Given the description of an element on the screen output the (x, y) to click on. 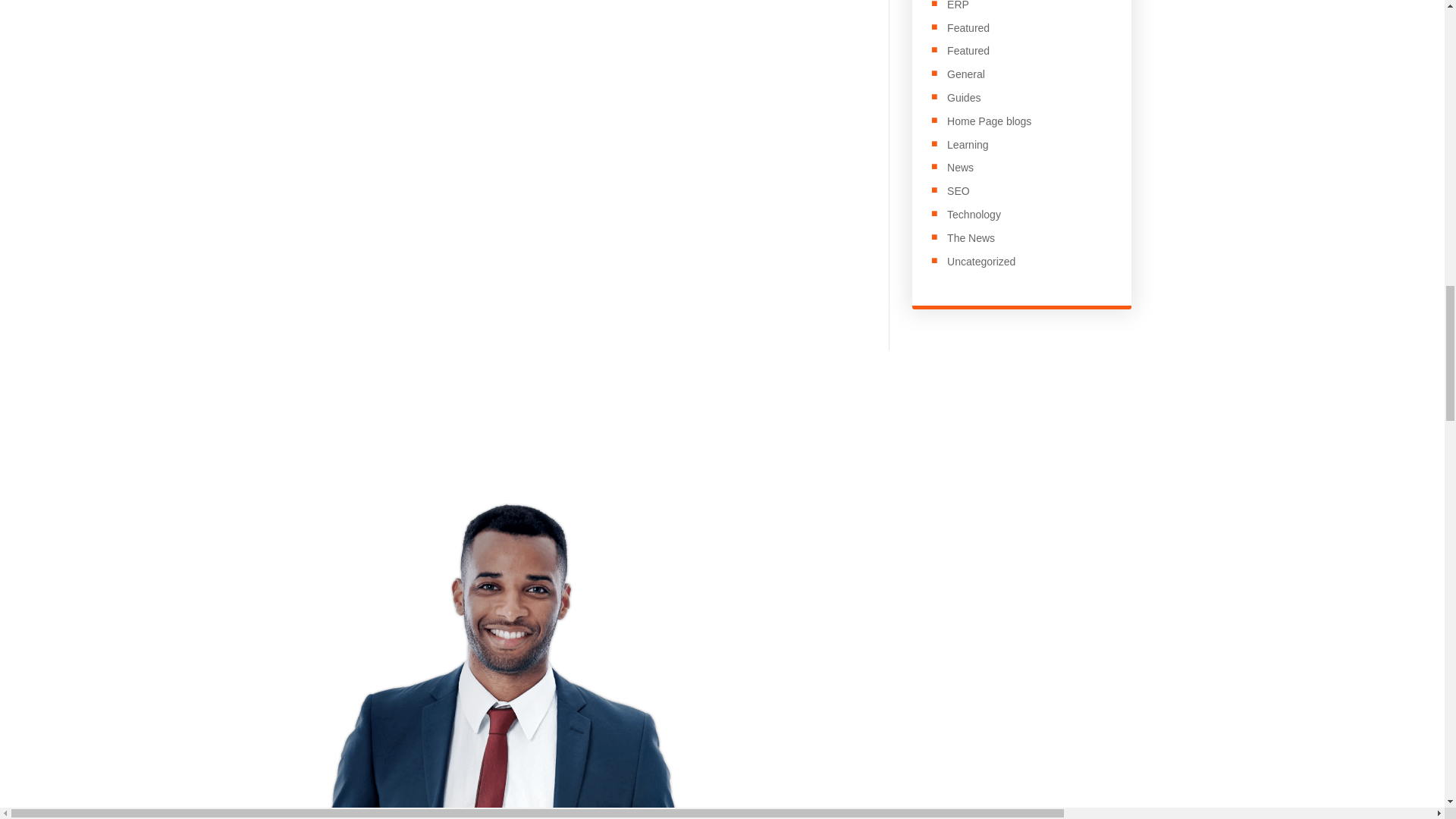
Featured (968, 28)
Home Page blogs (988, 121)
SEO (958, 191)
The News (970, 237)
Technology (974, 214)
person-stock-2 (500, 660)
ERP (958, 5)
General (966, 73)
Learning (967, 144)
Featured (968, 50)
Guides (963, 97)
Uncategorized (980, 261)
News (960, 167)
